Given the description of an element on the screen output the (x, y) to click on. 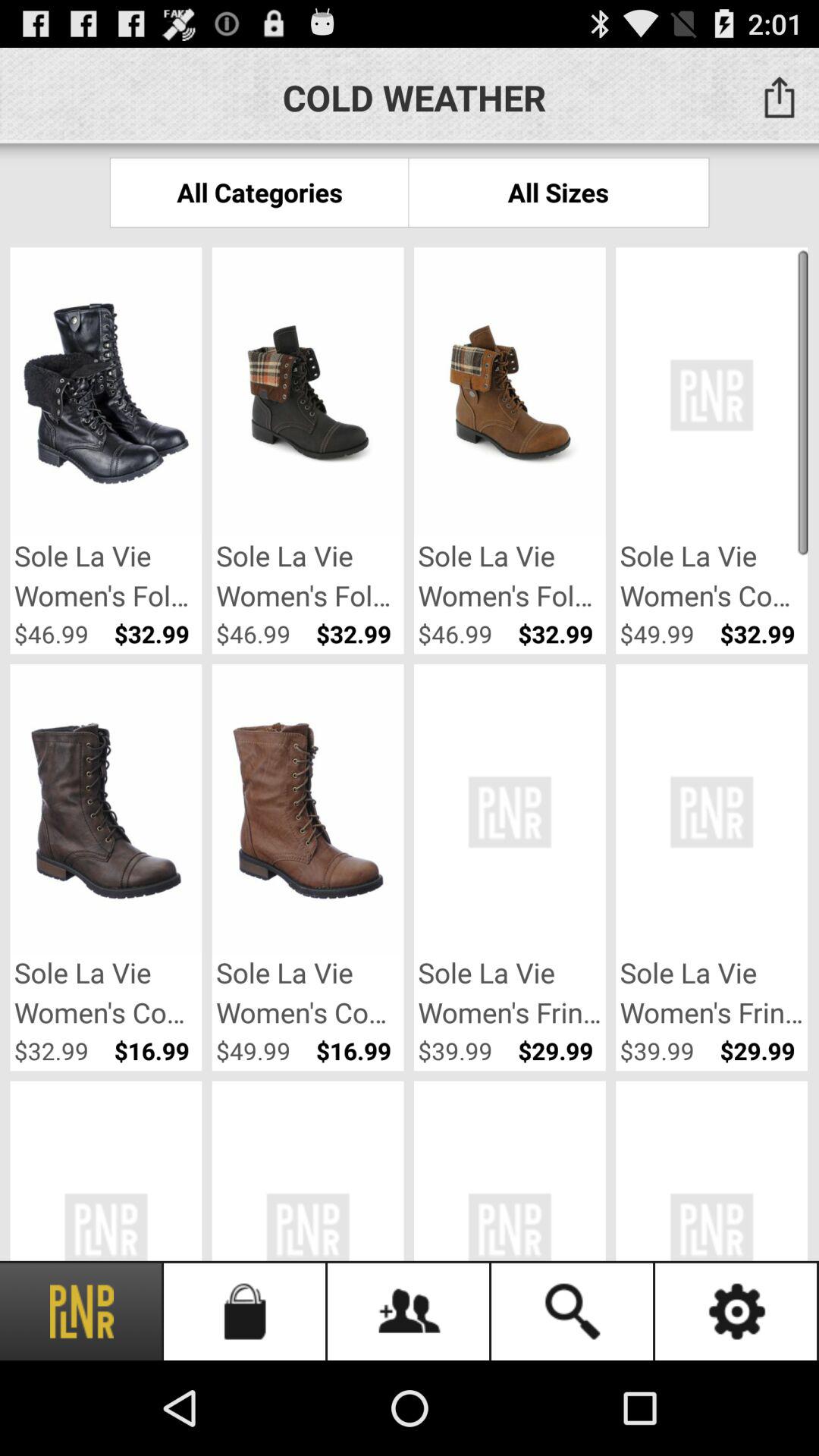
choose the item to the left of all sizes app (259, 192)
